Given the description of an element on the screen output the (x, y) to click on. 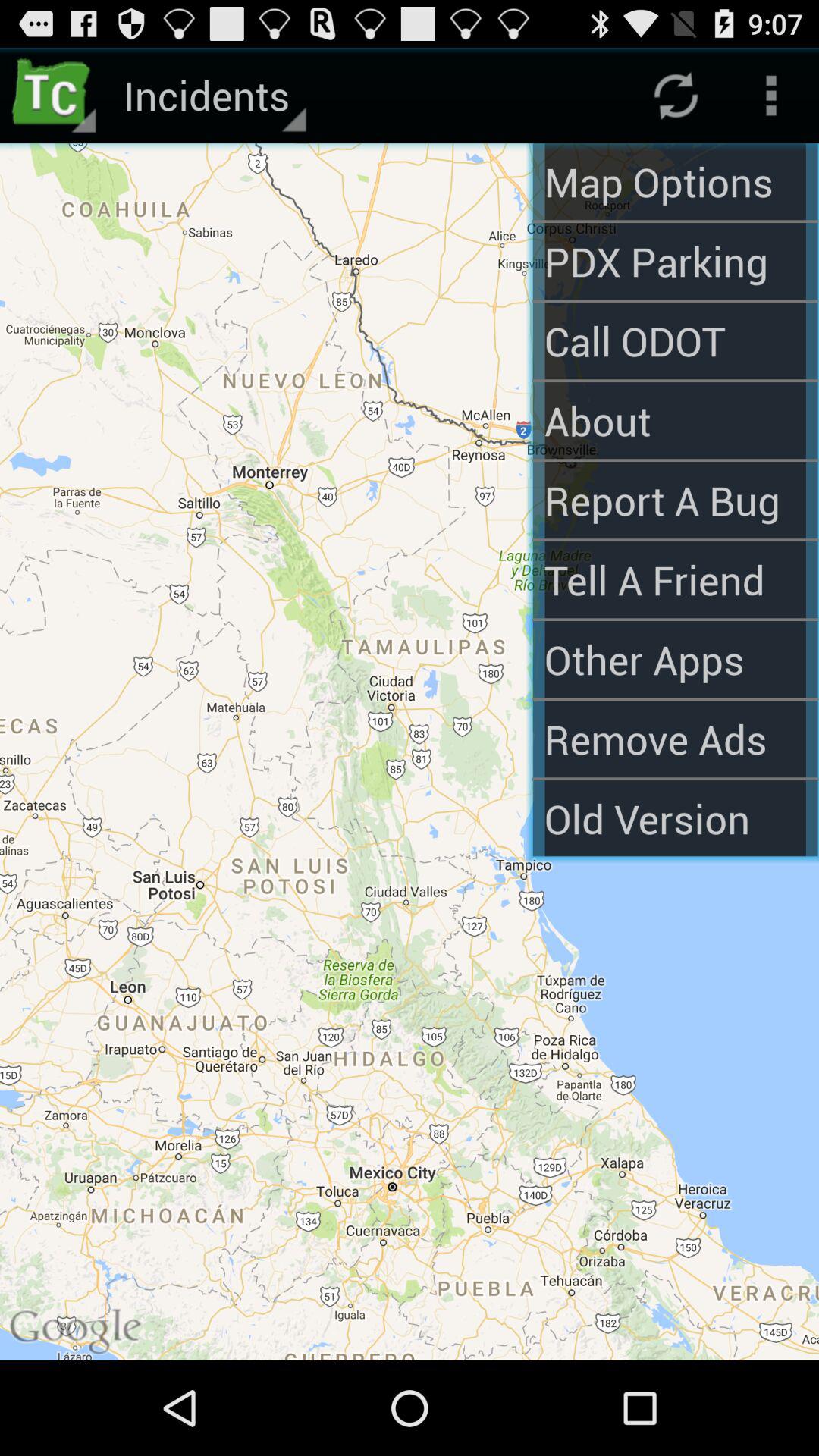
tap the old version item (675, 818)
